Given the description of an element on the screen output the (x, y) to click on. 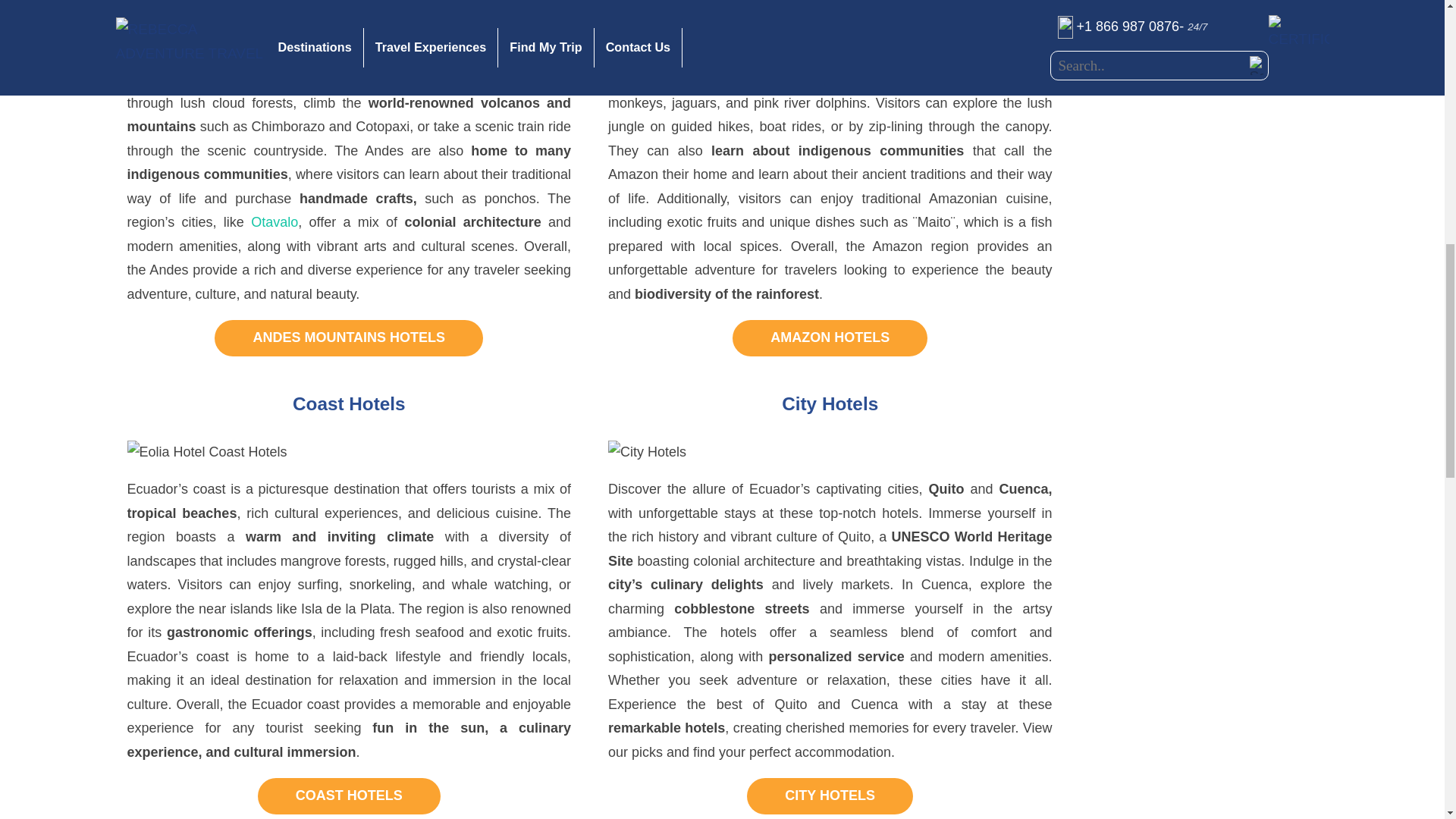
City Hotels (829, 796)
Amazon hotels list (829, 338)
Otavalo City Guide (274, 222)
Andes Mountain hotels list (348, 338)
Coast Hotels list (349, 796)
